Given the description of an element on the screen output the (x, y) to click on. 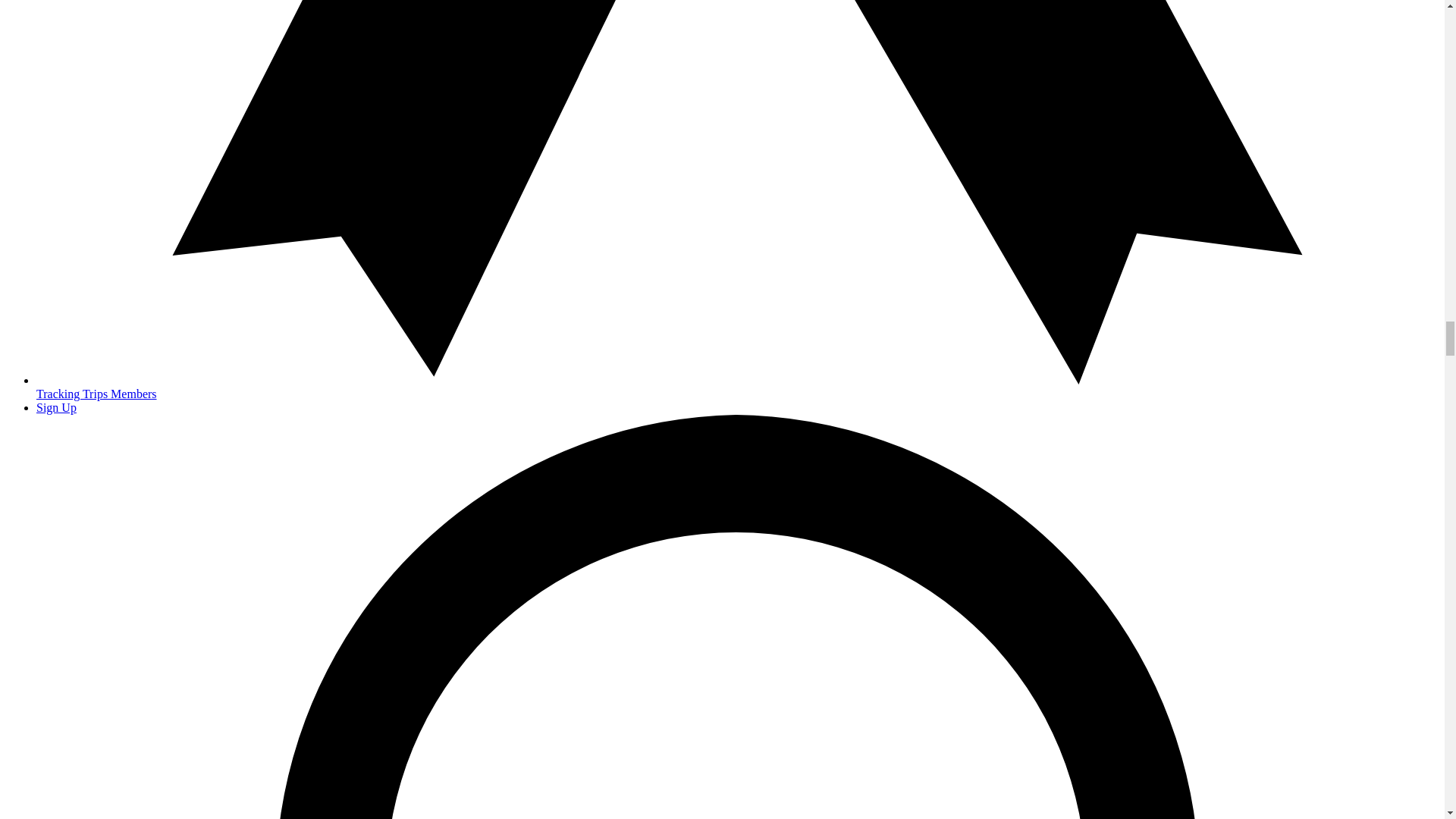
Sign Up (56, 407)
